Given the description of an element on the screen output the (x, y) to click on. 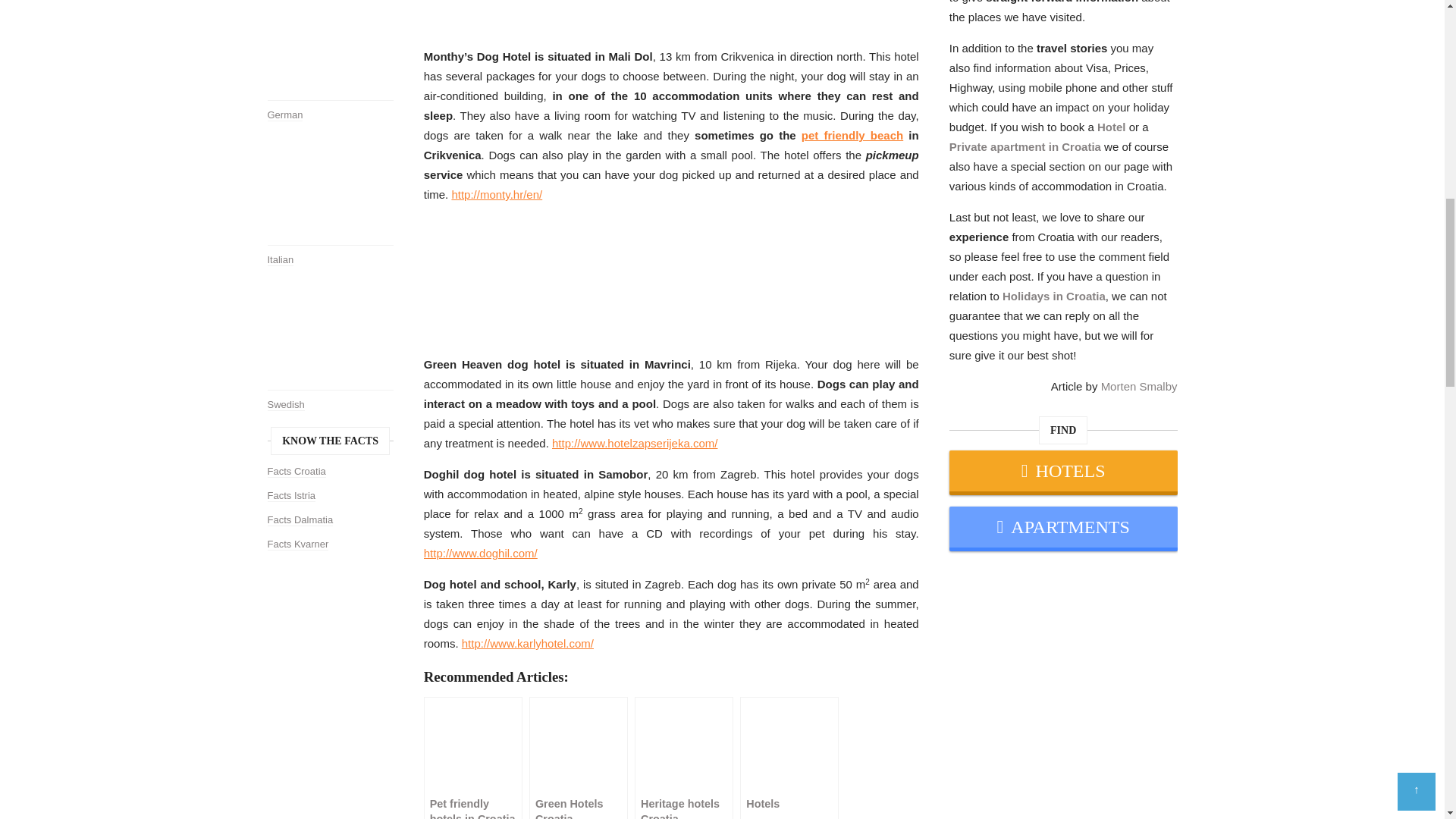
pet friendly beach (852, 134)
